Given the description of an element on the screen output the (x, y) to click on. 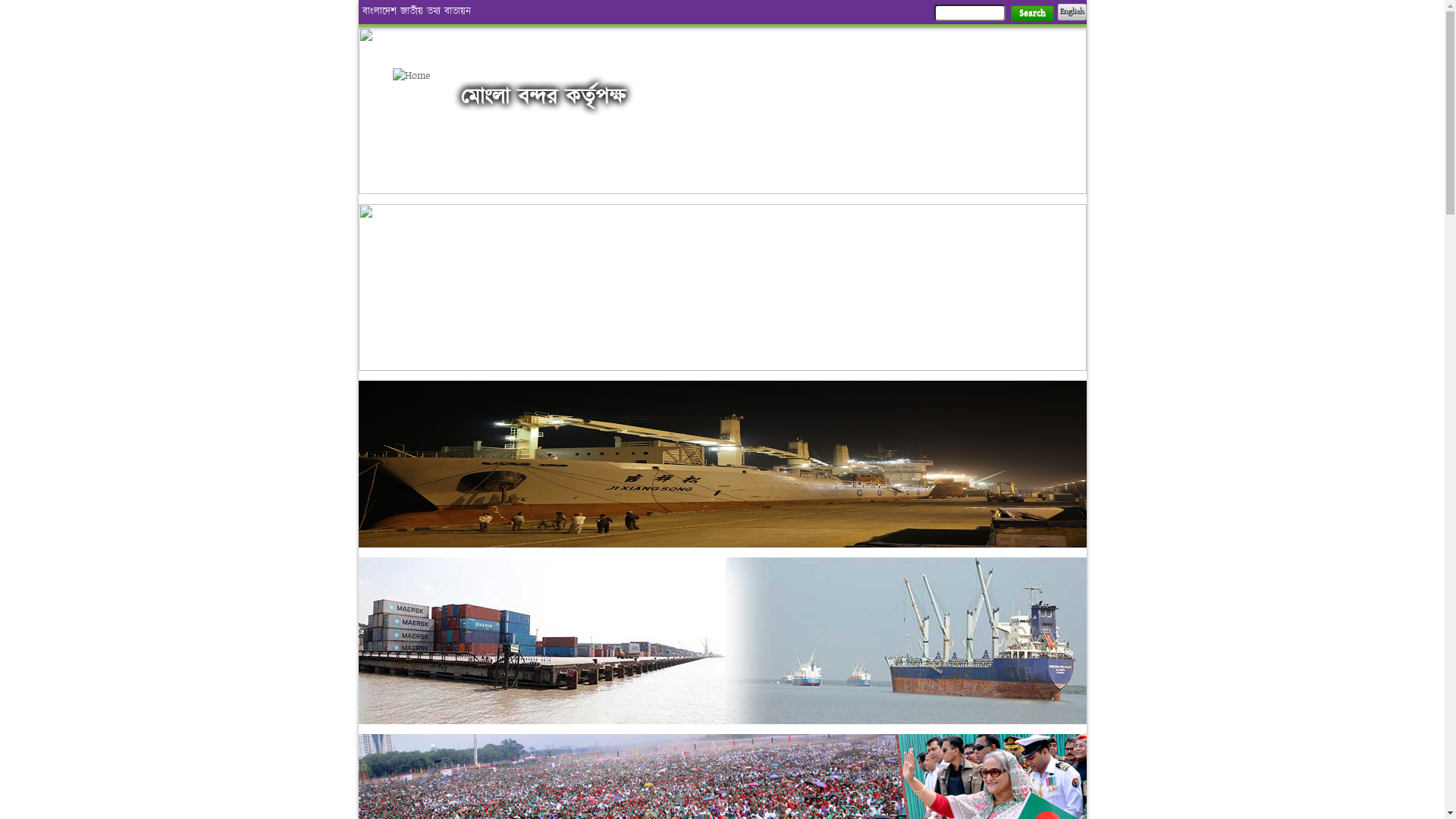
English Element type: text (1071, 11)
Search Element type: text (1031, 13)
Home Element type: hover (418, 76)
